Given the description of an element on the screen output the (x, y) to click on. 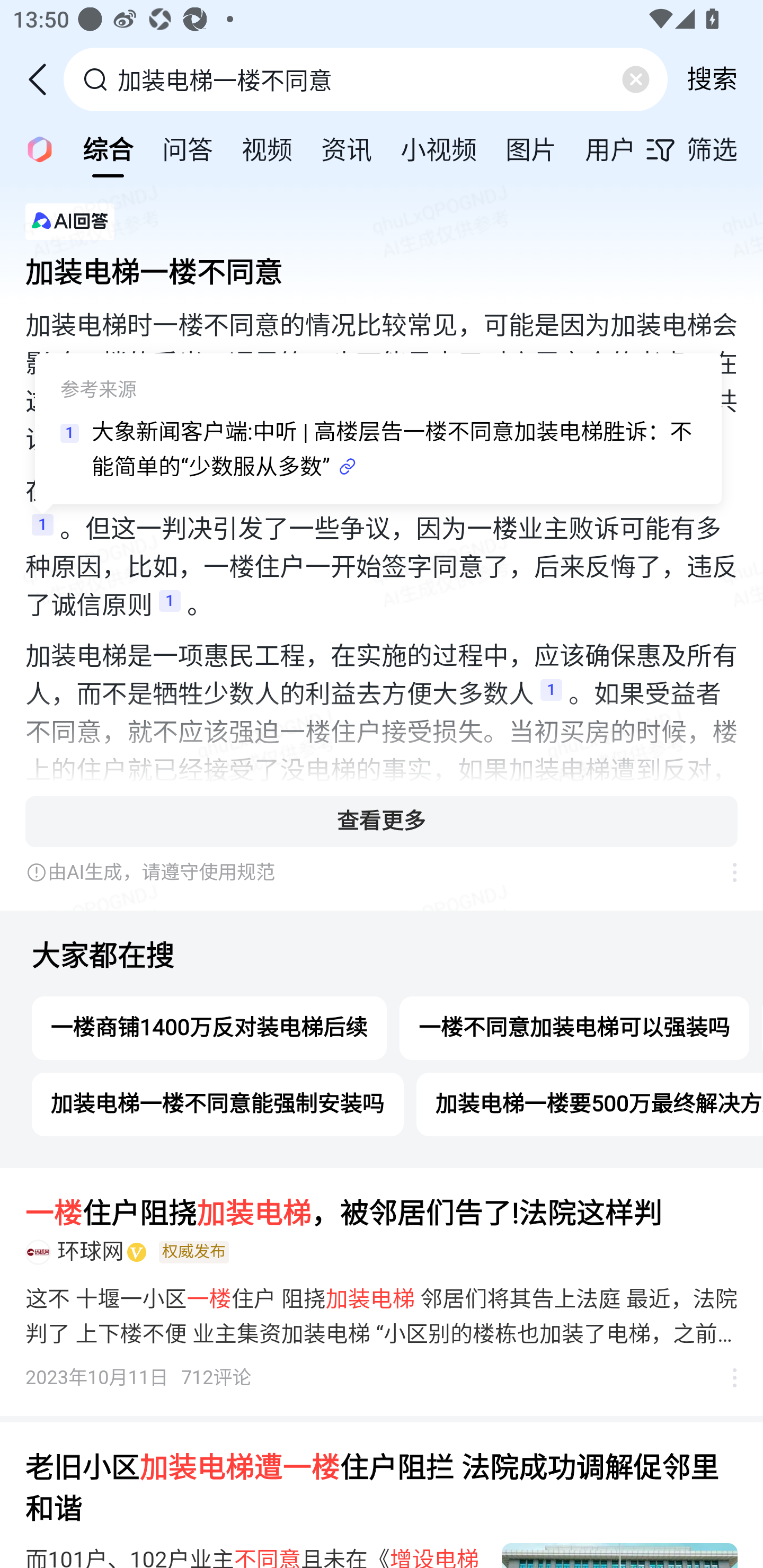
搜索框，加装电梯一楼不同意 (366, 79)
搜索 (711, 79)
返回 (44, 79)
清除 (635, 79)
问答 (187, 148)
视频 (266, 148)
资讯 (346, 148)
小视频 (438, 148)
图片 (530, 148)
用户 (610, 148)
筛选 (703, 149)
AI问答 (34, 148)
加装电梯一楼不同意 (381, 266)
大象新闻客户端:中听 | 高楼层告一楼不同意加装电梯胜诉：不能简单的“少数服从多数” (392, 450)
1 (42, 529)
1 (169, 605)
1 (551, 694)
查看更多 (381, 821)
由AI生成，请遵守使用规范 (368, 872)
举报反馈 (724, 872)
一楼住户阻挠加装电梯，被邻居们告了!法院这样判 一楼 住户阻挠 加装电梯 ，被邻居们告了!法院这样判 (381, 1214)
2023年10月11日 712评论 (138, 1377)
举报反馈 (724, 1377)
